Given the description of an element on the screen output the (x, y) to click on. 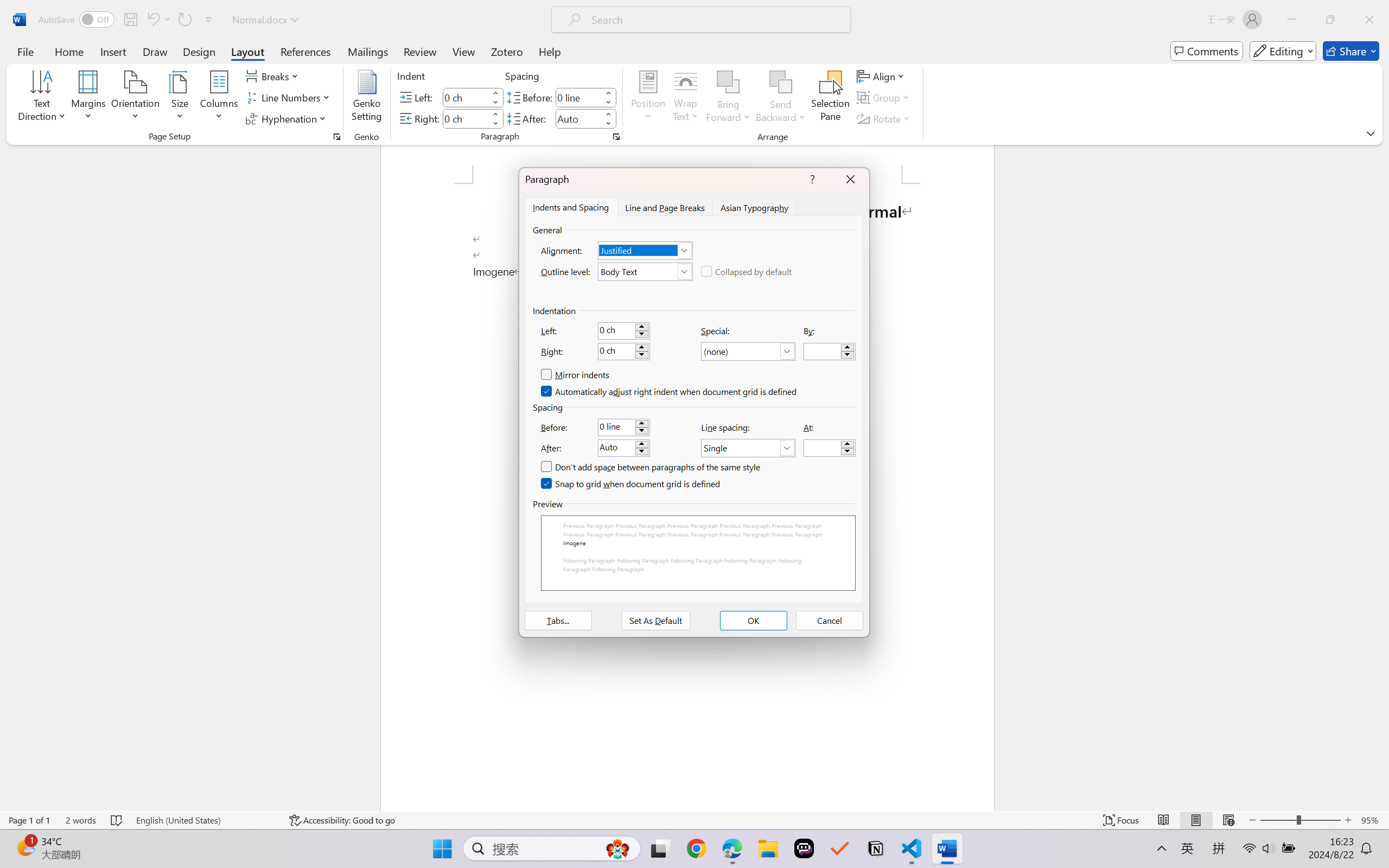
Cancel (829, 620)
Collapsed by default (747, 271)
Hyphenation (287, 118)
Indent Left (465, 96)
Text Direction (42, 97)
OK (753, 620)
Right: (623, 351)
Page Number Page 1 of 1 (29, 819)
Size (180, 97)
Bring Forward (728, 97)
